Given the description of an element on the screen output the (x, y) to click on. 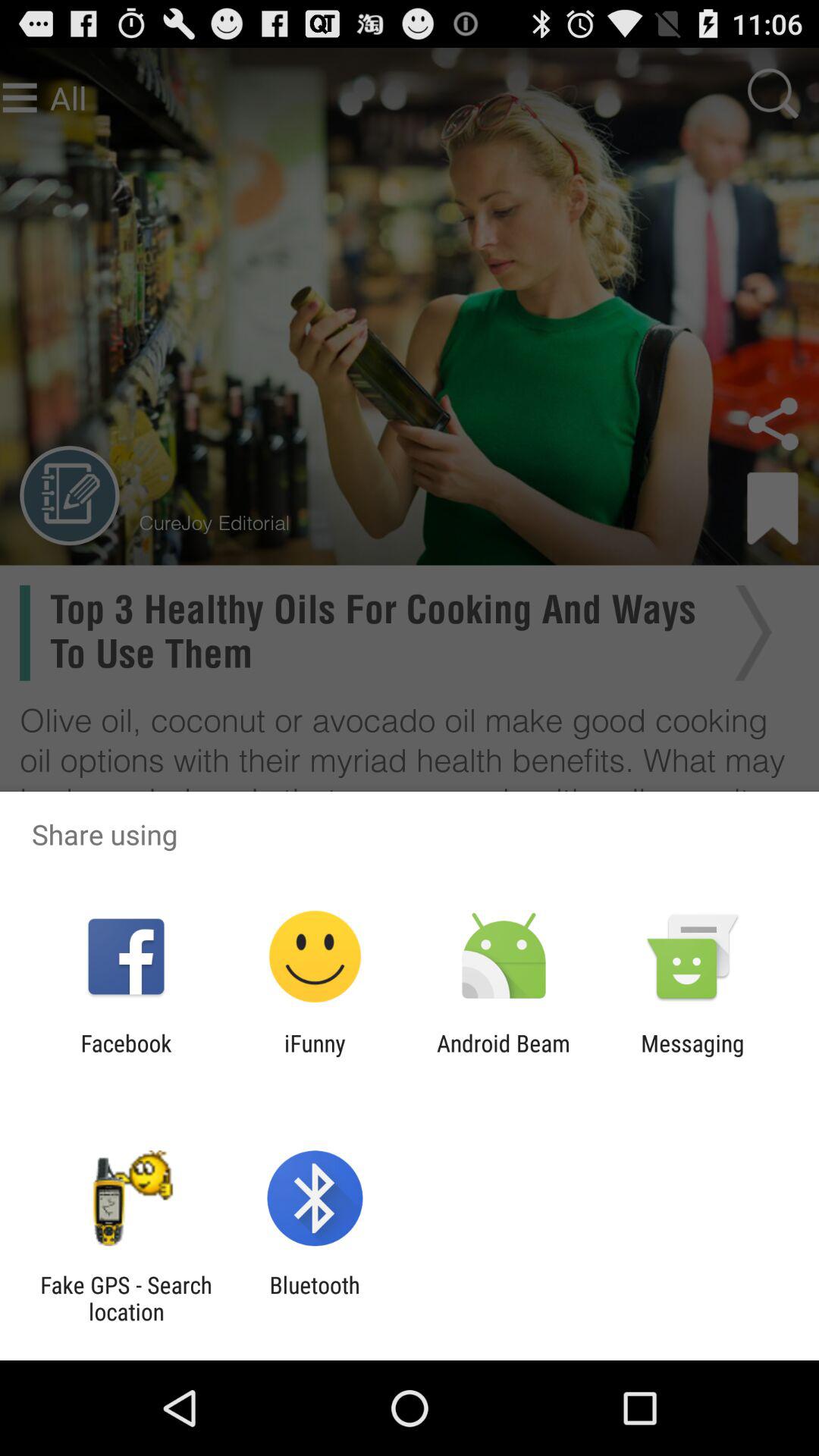
launch android beam item (503, 1056)
